Given the description of an element on the screen output the (x, y) to click on. 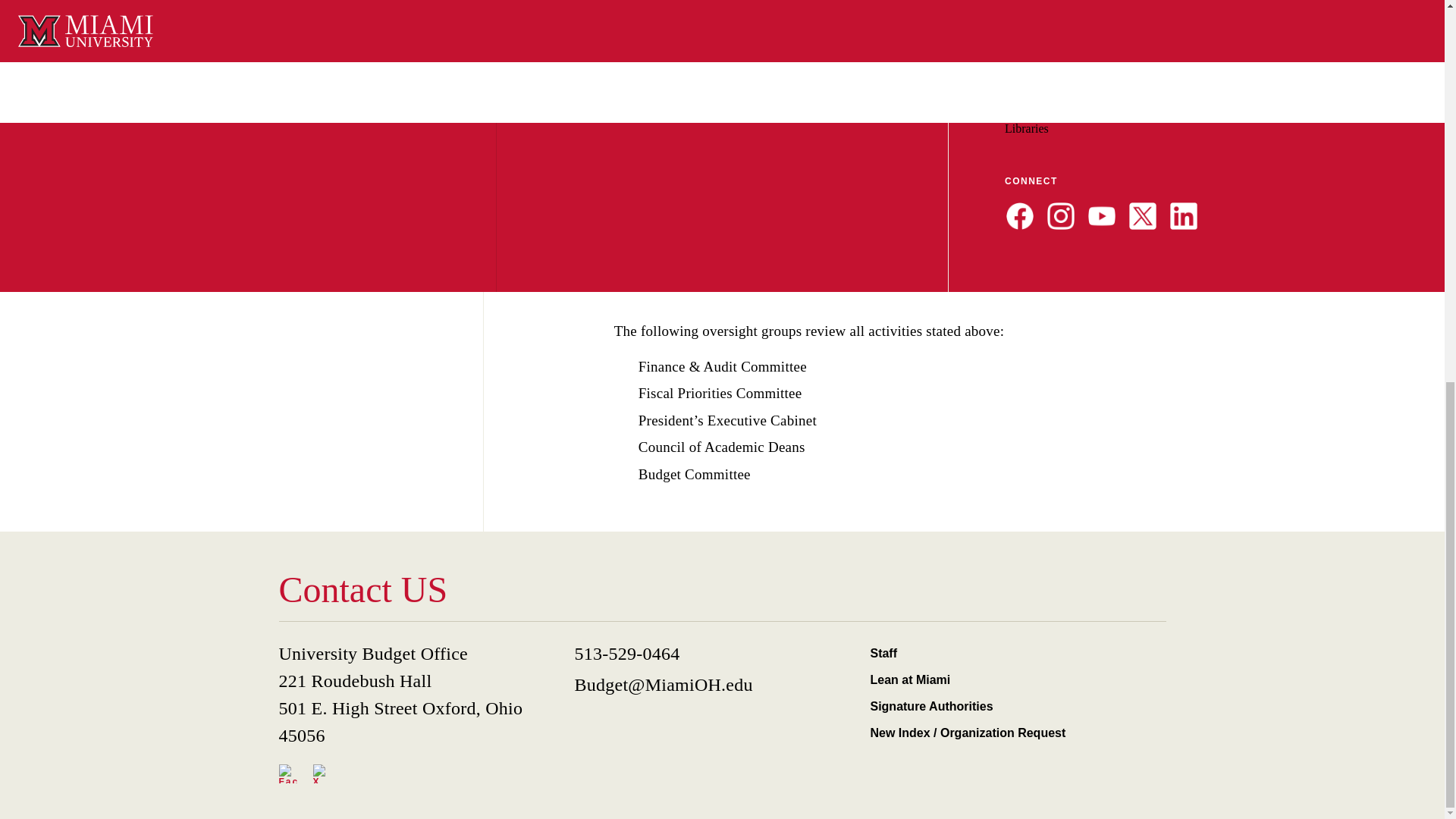
Staff (1011, 652)
Signature Authorities (1011, 705)
Lean at Miami (1011, 679)
513-529-0464 (715, 653)
